Given the description of an element on the screen output the (x, y) to click on. 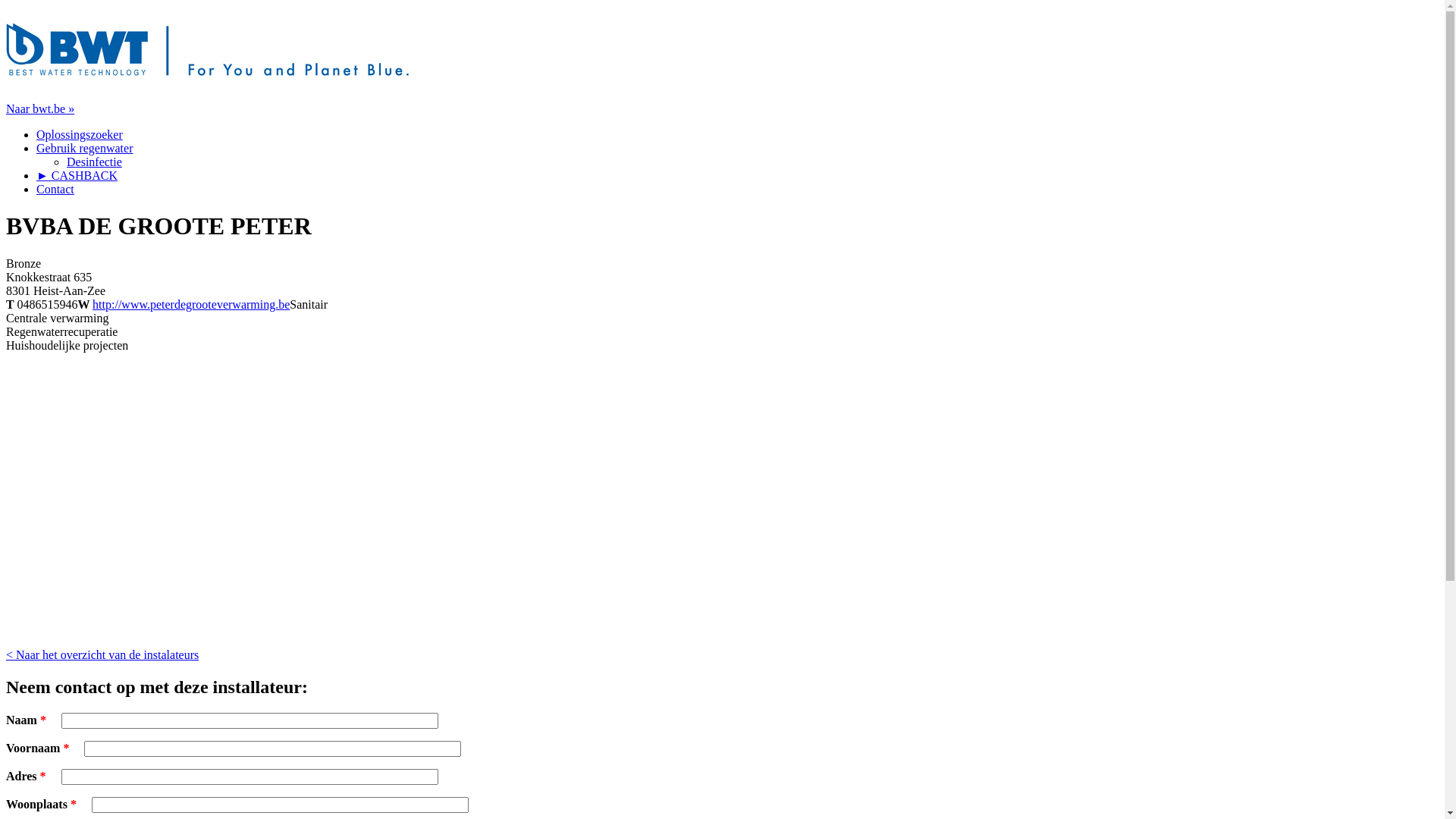
Oplossingszoeker Element type: text (79, 134)
http://www.peterdegrooteverwarming.be Element type: text (190, 304)
Contact Element type: text (55, 188)
Home Element type: hover (207, 82)
Desinfectie Element type: text (94, 161)
Jump to navigation Element type: text (52, 12)
< Naar het overzicht van de instalateurs Element type: text (102, 654)
Gebruik regenwater Element type: text (84, 147)
